Given the description of an element on the screen output the (x, y) to click on. 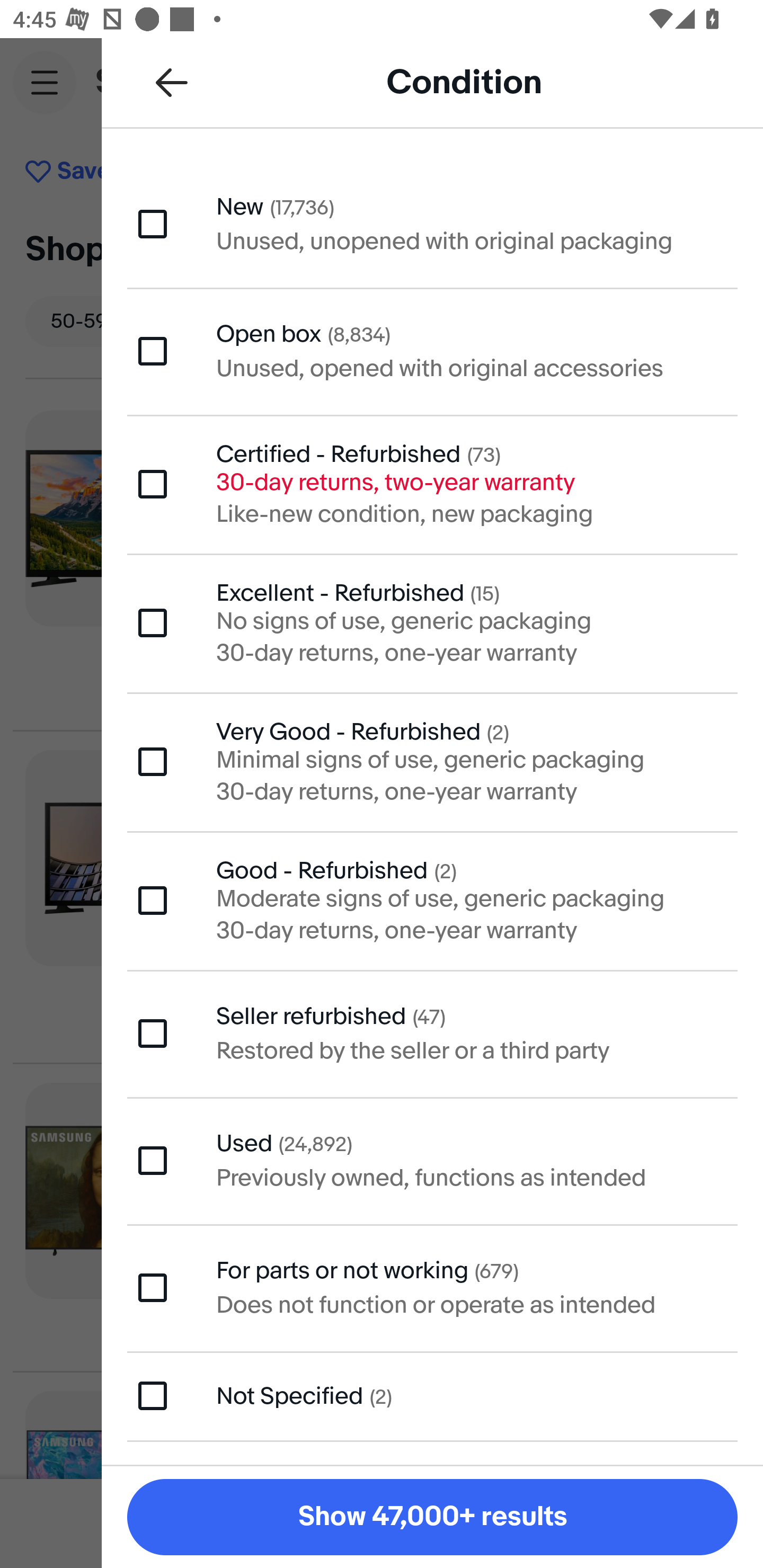
Back to all refinements (171, 81)
Not Specified (2) (432, 1395)
Show 47,000+ results (432, 1516)
